Given the description of an element on the screen output the (x, y) to click on. 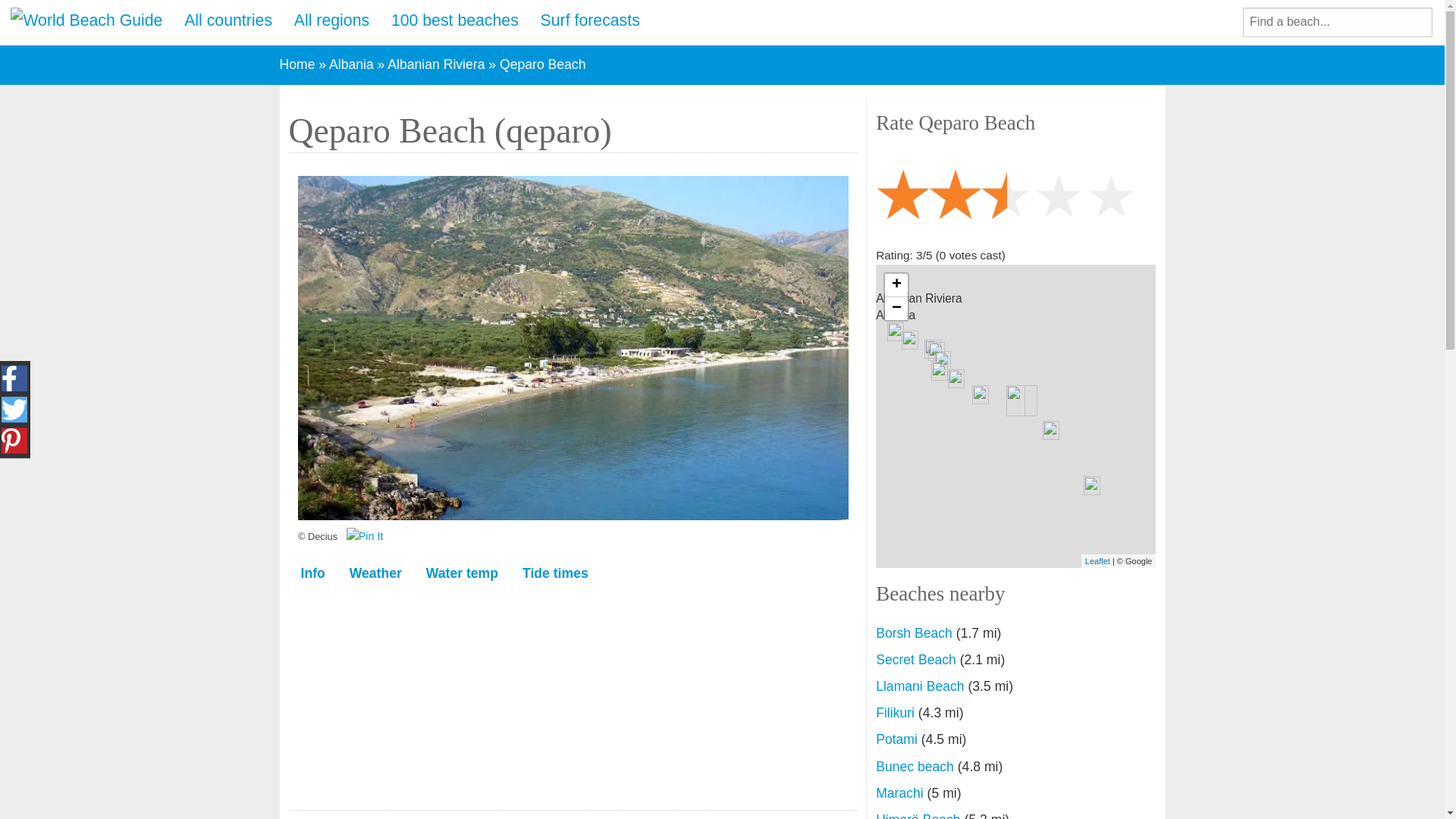
Zoom out (896, 308)
Bunec beach (914, 766)
100 best beaches (454, 20)
Weather (375, 573)
Filikuri (895, 712)
All countries (228, 20)
Marachi (899, 792)
Albania (351, 64)
Zoom in (896, 285)
Info (312, 573)
